Given the description of an element on the screen output the (x, y) to click on. 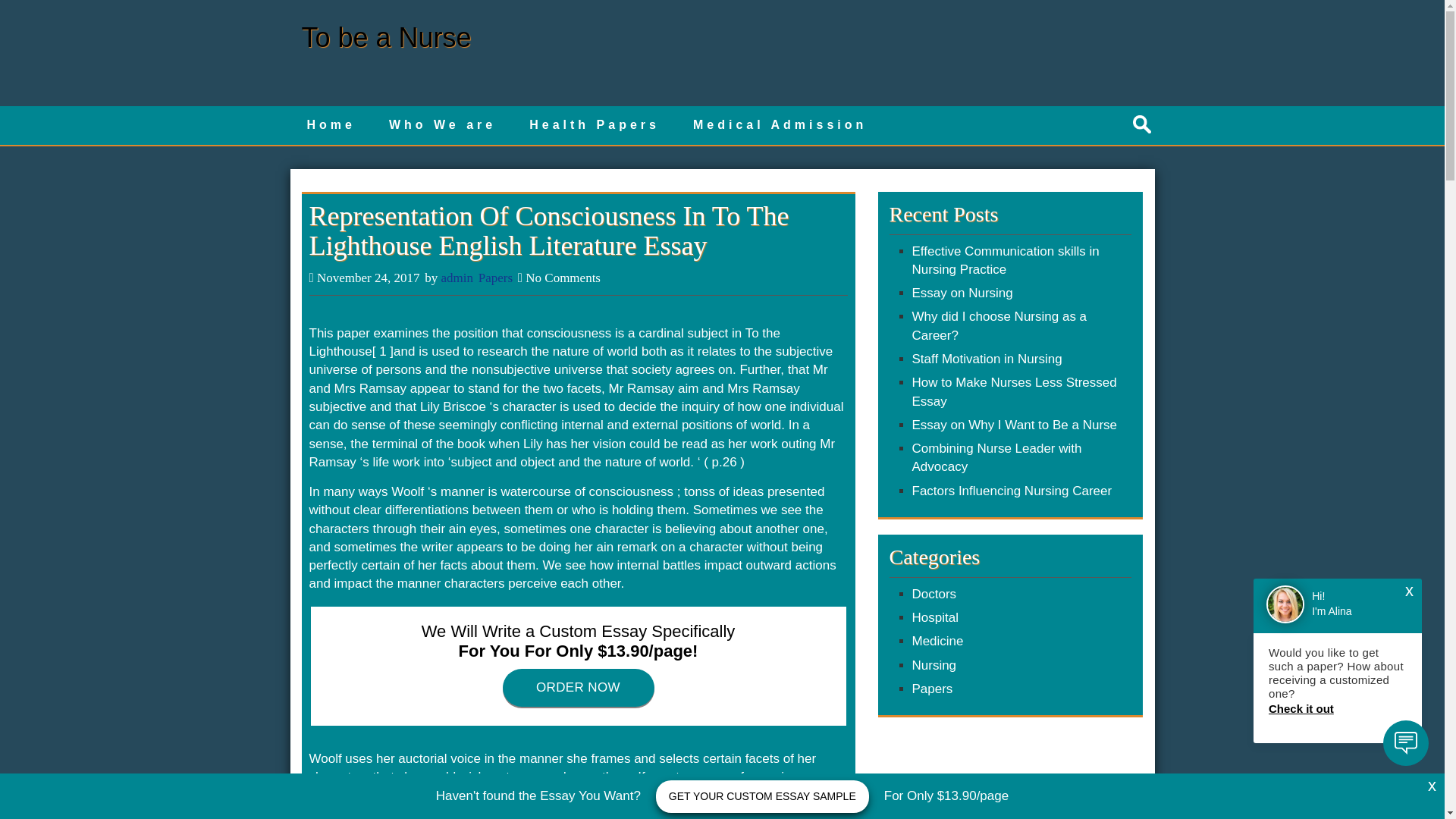
Check it out (1337, 708)
Doctors (933, 594)
Hospital (934, 617)
Papers (931, 688)
Health Papers (594, 125)
Why did I choose Nursing as a Career? (998, 325)
How to Make Nurses Less Stressed Essay (1013, 391)
ORDER NOW (577, 687)
Medical Admission (780, 125)
Combining Nurse Leader with Advocacy (996, 457)
Medicine (936, 640)
GET YOUR CUSTOM ESSAY SAMPLE (762, 795)
Essay on Why I Want to Be a Nurse (1013, 424)
To be a Nurse (386, 37)
Staff Motivation in Nursing (986, 359)
